Given the description of an element on the screen output the (x, y) to click on. 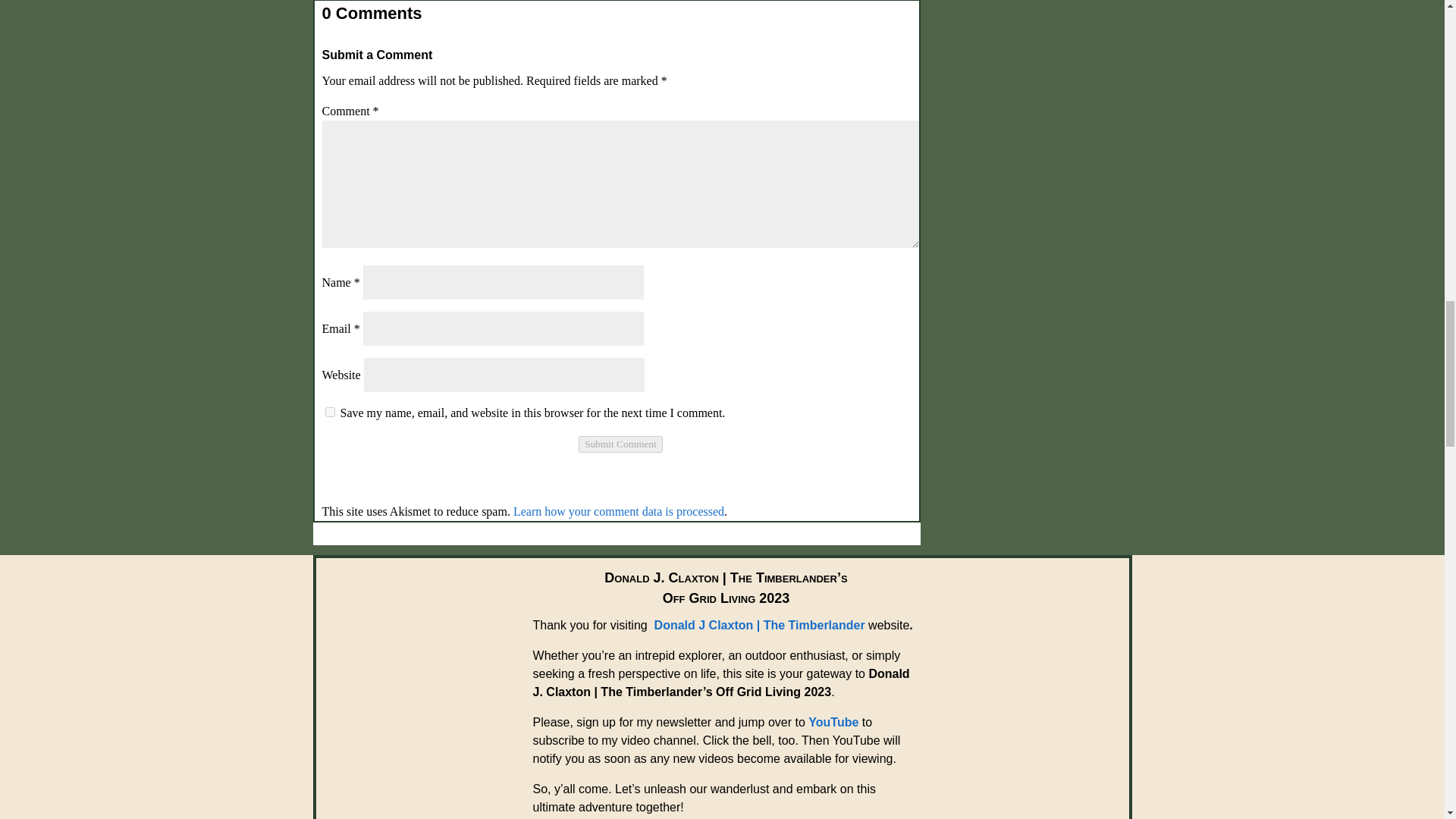
THE-TIMBERLANDER--MASTER-LOGO300 (410, 665)
Submit Comment (620, 443)
Learn how your comment data is processed (618, 511)
yes (329, 411)
YouTube (833, 721)
